Given the description of an element on the screen output the (x, y) to click on. 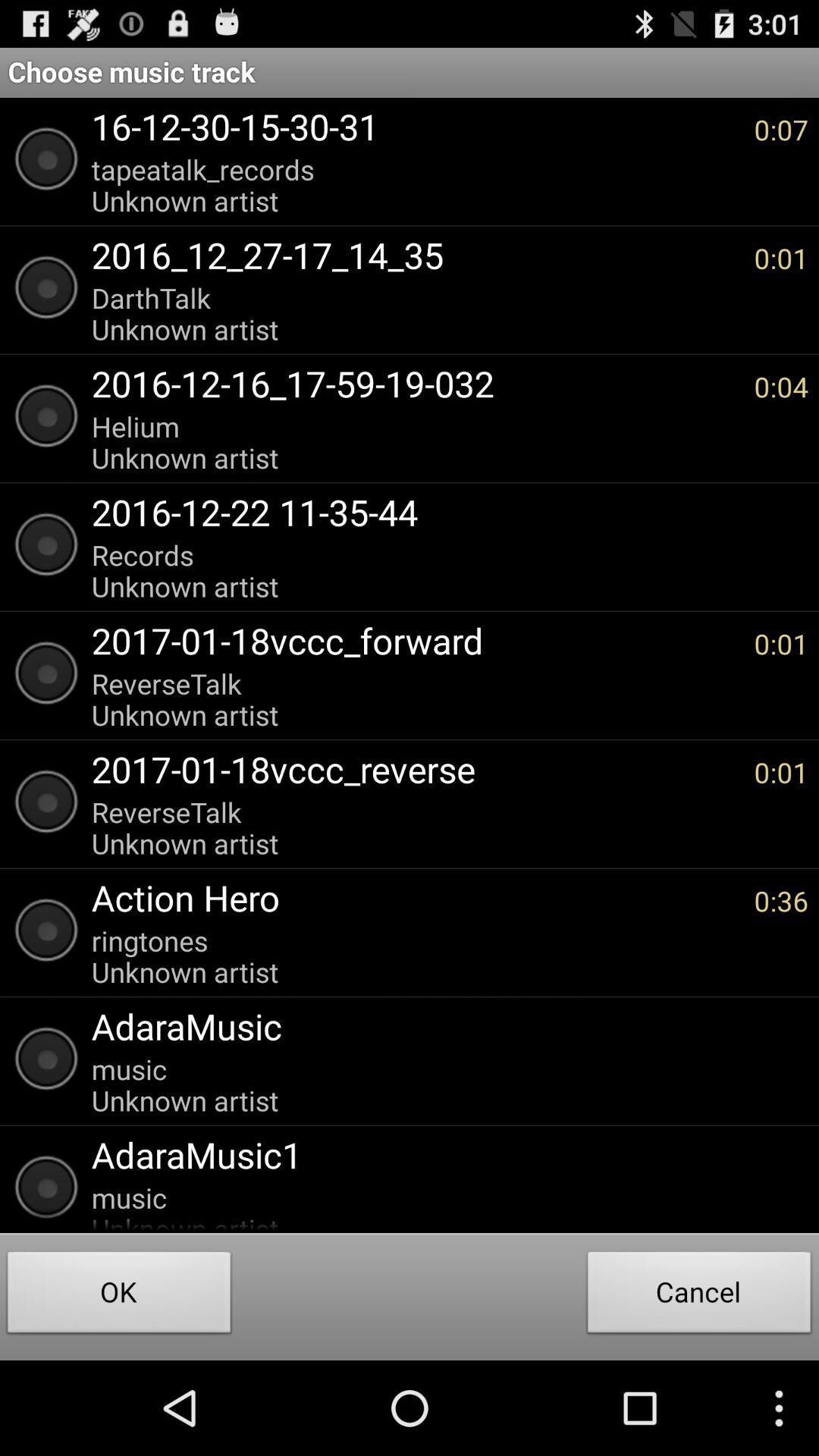
choose item to the left of the 0:07 item (414, 185)
